Given the description of an element on the screen output the (x, y) to click on. 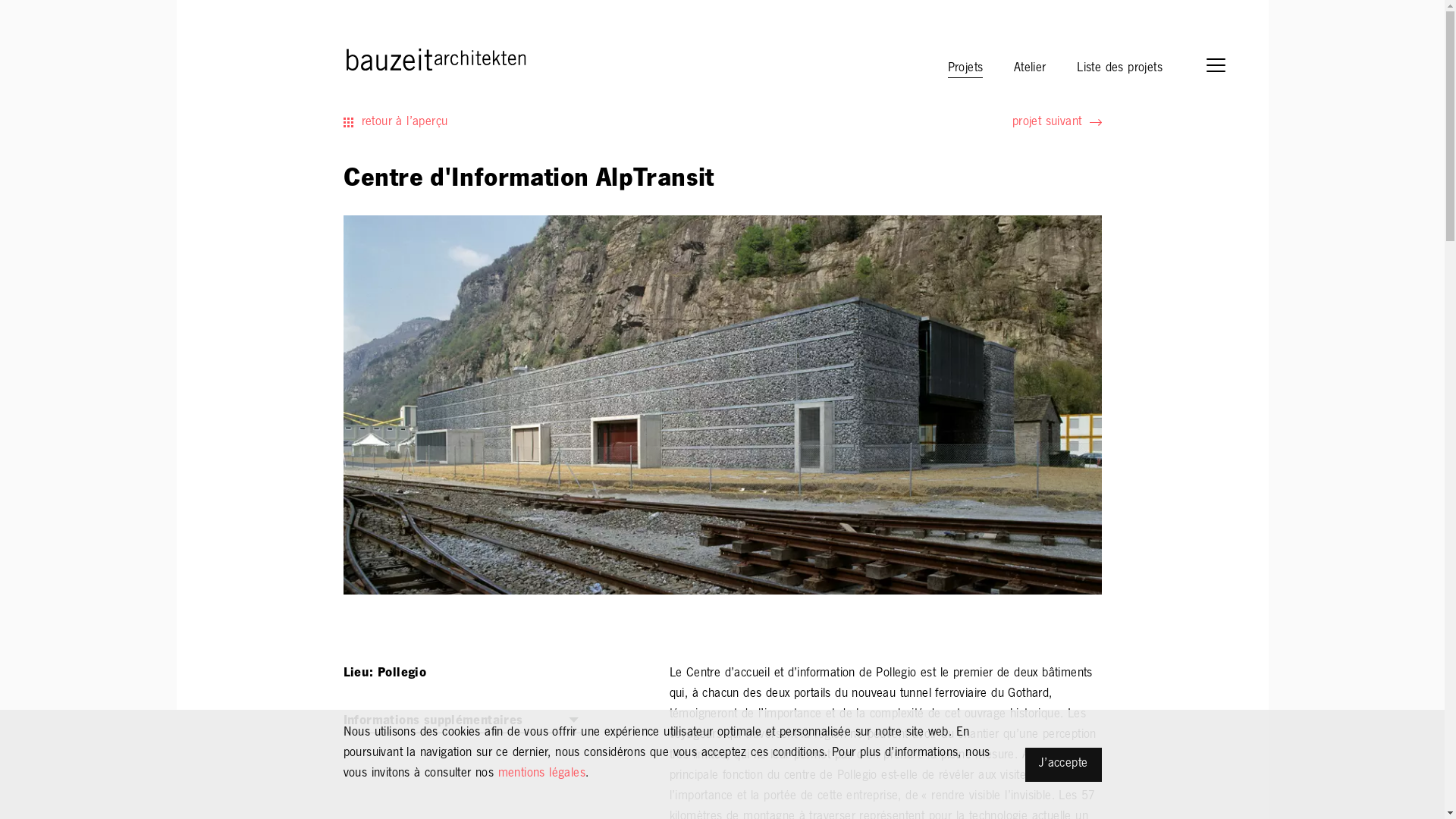
Liste des projets Element type: text (1119, 67)
projet suivant Element type: text (1056, 121)
Projets Element type: text (965, 67)
Atelier Element type: text (1029, 67)
Homepage bauzeit-architekten Element type: hover (368, 58)
